Given the description of an element on the screen output the (x, y) to click on. 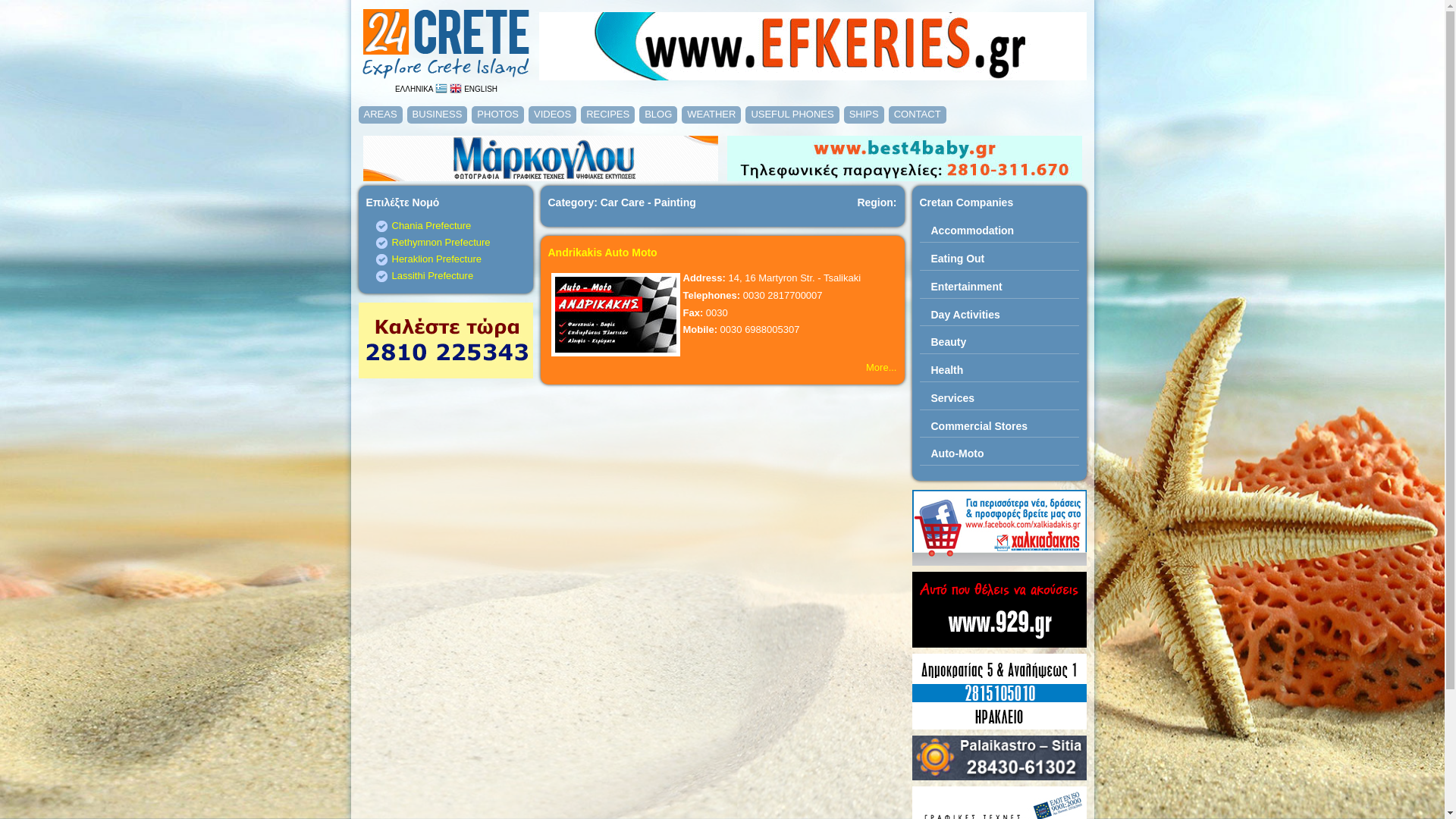
More... Element type: text (881, 367)
Heraklion Prefecture Element type: text (436, 258)
BLOG Element type: text (658, 113)
Andrikakis Auto Moto Element type: text (601, 252)
PHOTOS Element type: text (497, 113)
CONTACT Element type: text (917, 113)
VIDEOS Element type: text (552, 113)
Lassithi Prefecture Element type: text (432, 275)
BUSINESS Element type: text (437, 113)
AREAS Element type: text (379, 113)
RECIPES Element type: text (607, 113)
USEFUL PHONES Element type: text (791, 113)
WEATHER Element type: text (710, 113)
SHIPS Element type: text (864, 113)
Rethymnon Prefecture Element type: text (440, 241)
ENGLISH Element type: text (473, 88)
Chania Prefecture Element type: text (430, 225)
